Given the description of an element on the screen output the (x, y) to click on. 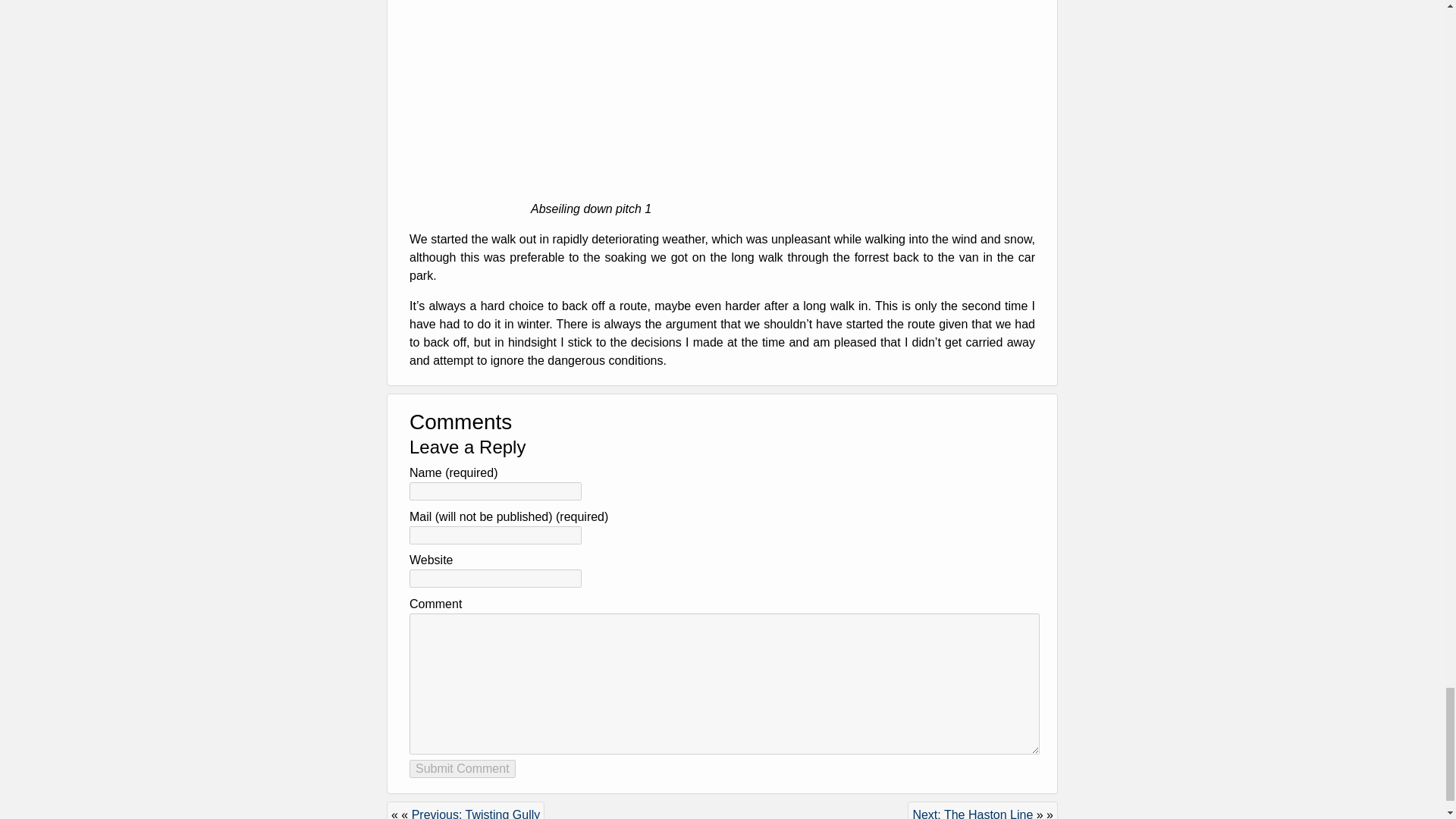
Submit Comment (462, 769)
